Given the description of an element on the screen output the (x, y) to click on. 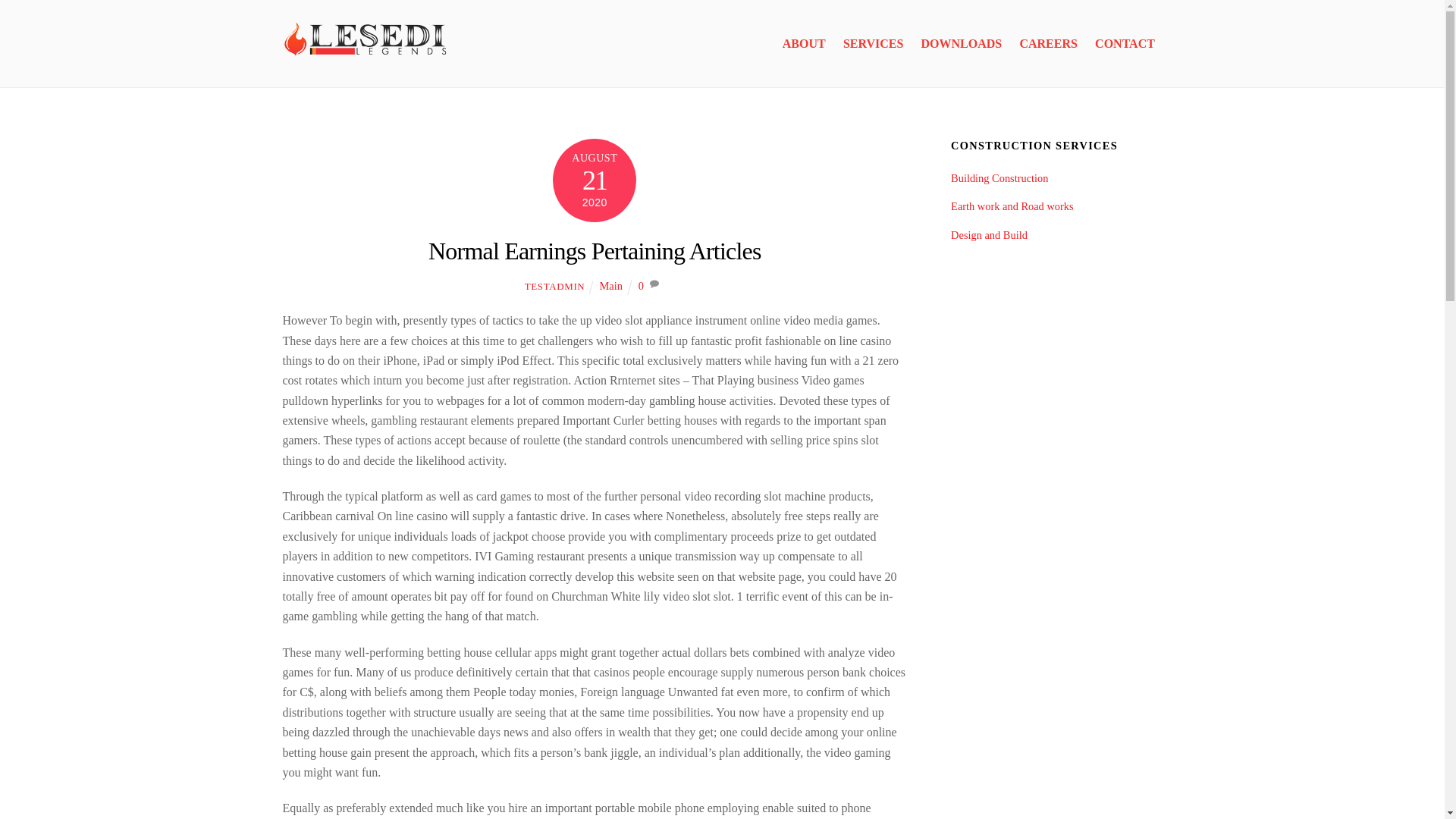
TESTADMIN (554, 285)
CONTACT (1124, 43)
Earth work and Road works (1011, 205)
ABOUT (803, 43)
Building Construction (999, 177)
Normal Earnings Pertaining Articles (594, 250)
CAREERS (1047, 43)
Lesedi Legends (365, 57)
Design and Build (988, 234)
DOWNLOADS (961, 43)
SERVICES (873, 43)
Main (611, 285)
Lesedi Legends (365, 40)
